Given the description of an element on the screen output the (x, y) to click on. 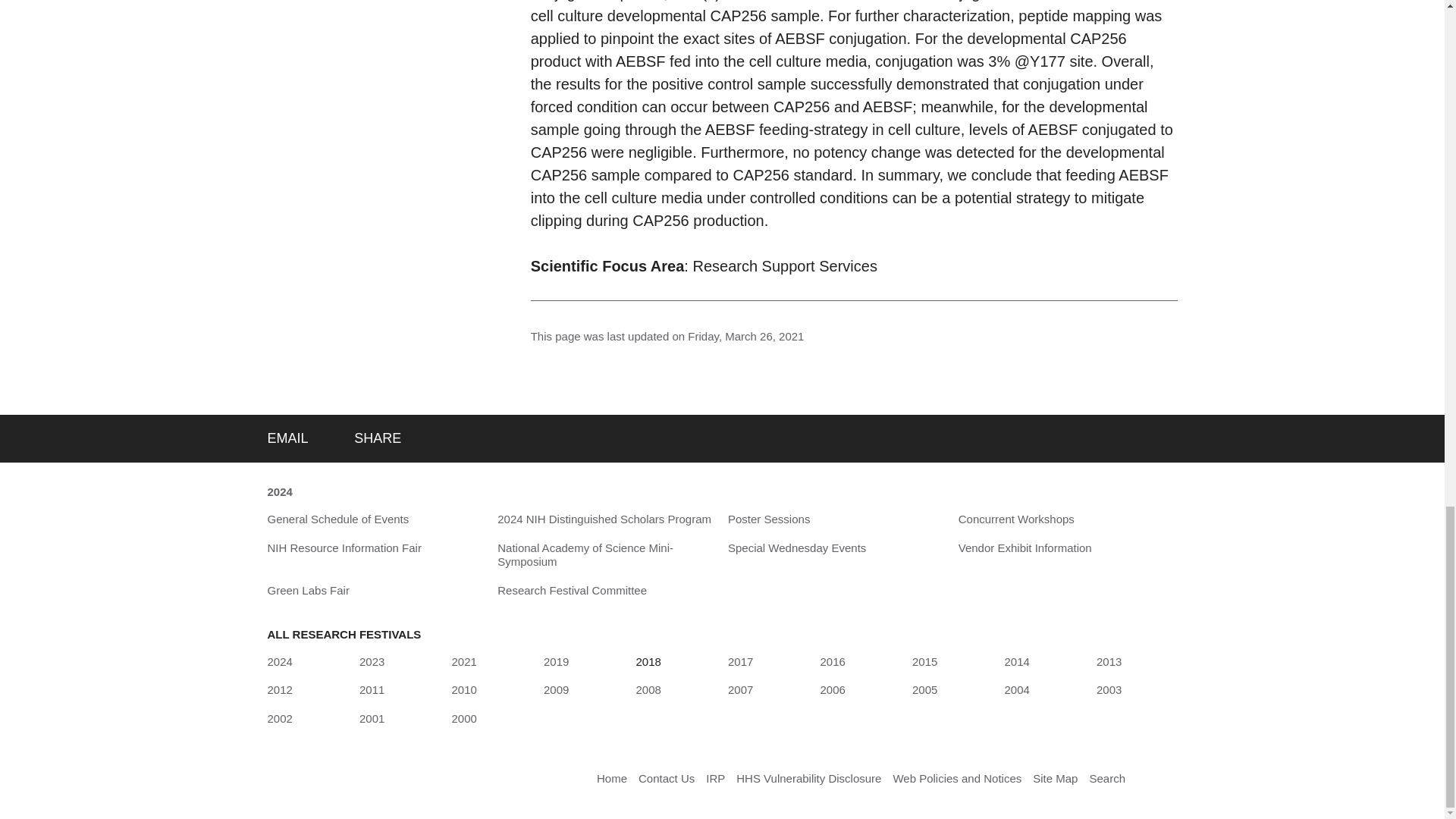
Special Wednesday Events (797, 548)
National Academy of Science Mini-Symposium  (606, 554)
2024 NIH Distinguished Scholars Program (604, 519)
Concurrent Workshops (1016, 519)
2024 NIH Research Festival (279, 661)
2024 NIH Research Festival (279, 492)
